Given the description of an element on the screen output the (x, y) to click on. 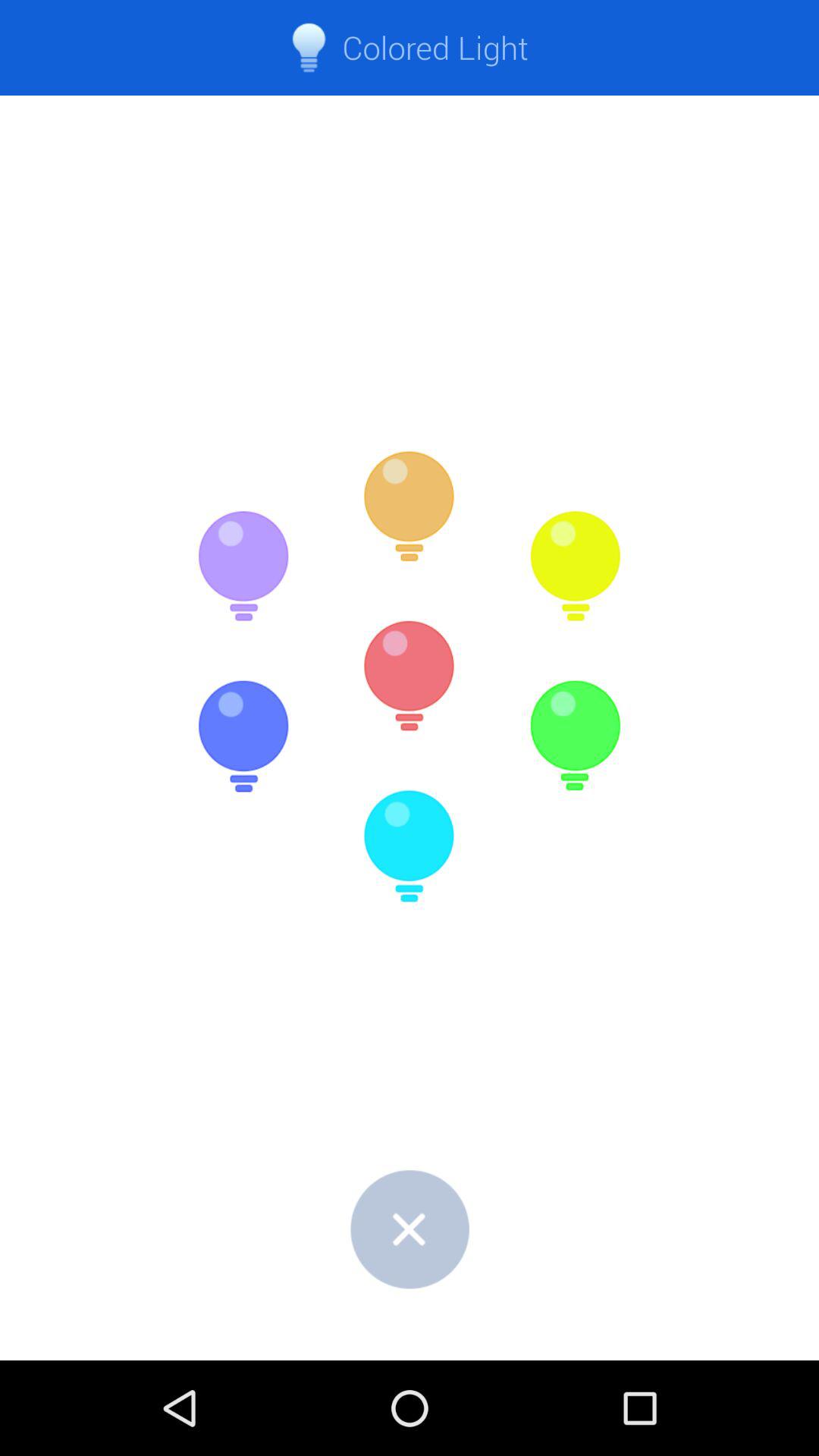
select light (243, 735)
